Given the description of an element on the screen output the (x, y) to click on. 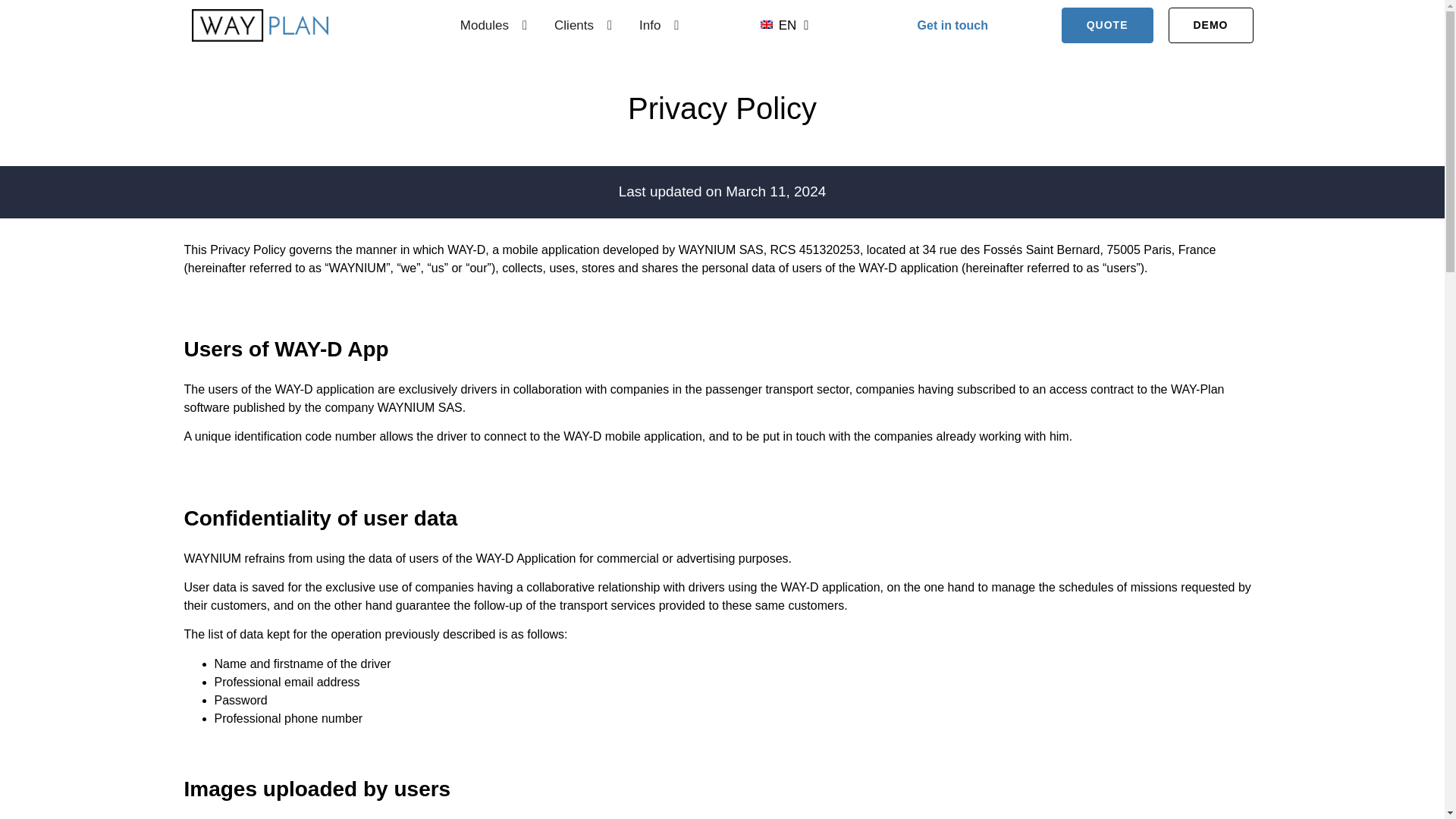
English (766, 24)
EN (783, 25)
